Given the description of an element on the screen output the (x, y) to click on. 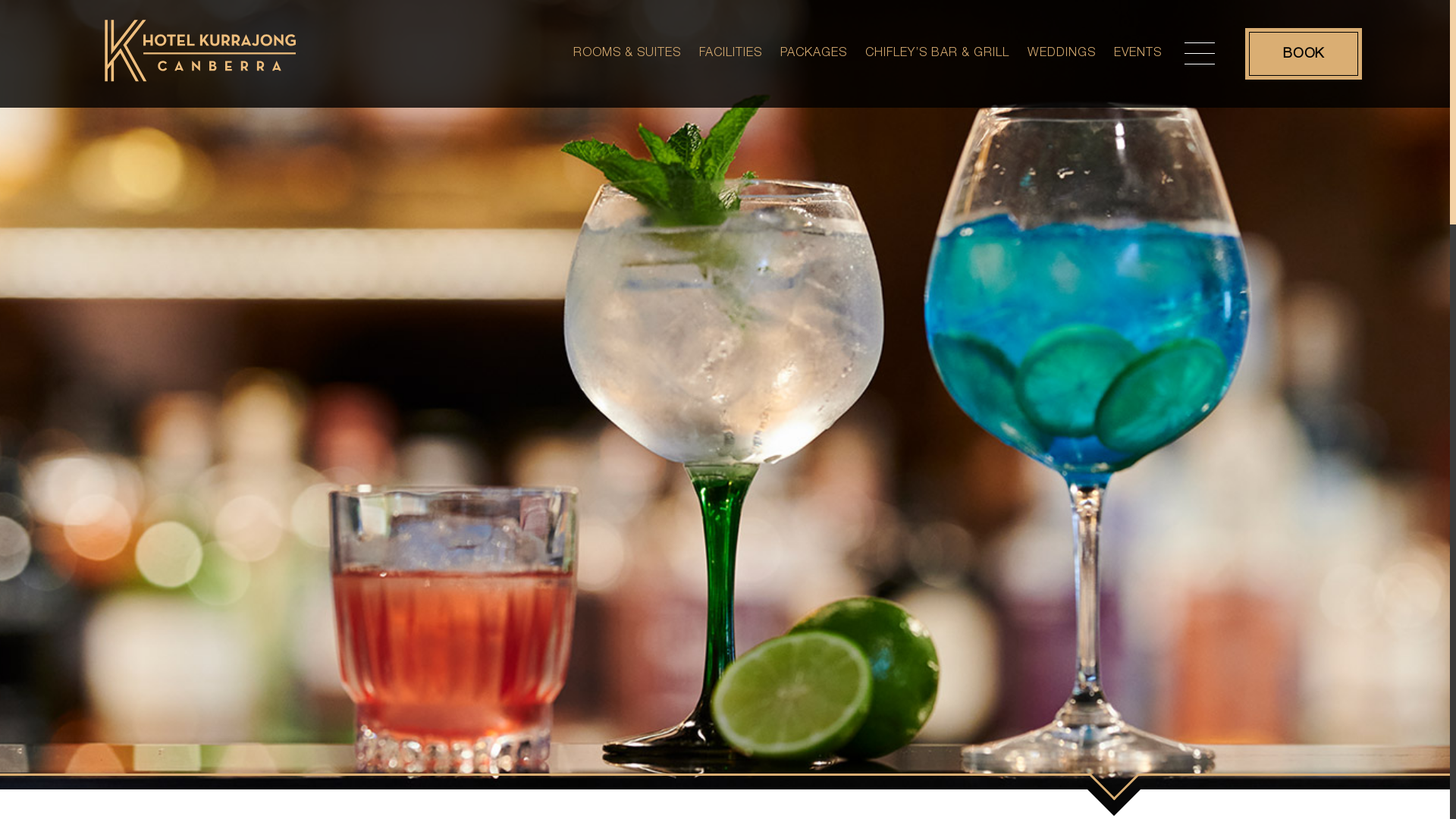
WEDDINGS Element type: text (1061, 42)
ROOMS & SUITES Element type: text (626, 42)
EVENTS Element type: text (1137, 42)
BOOK Element type: text (1303, 53)
FACILITIES Element type: text (730, 42)
PACKAGES Element type: text (813, 42)
Hotel Kurrajong Canberra Element type: hover (201, 90)
